Given the description of an element on the screen output the (x, y) to click on. 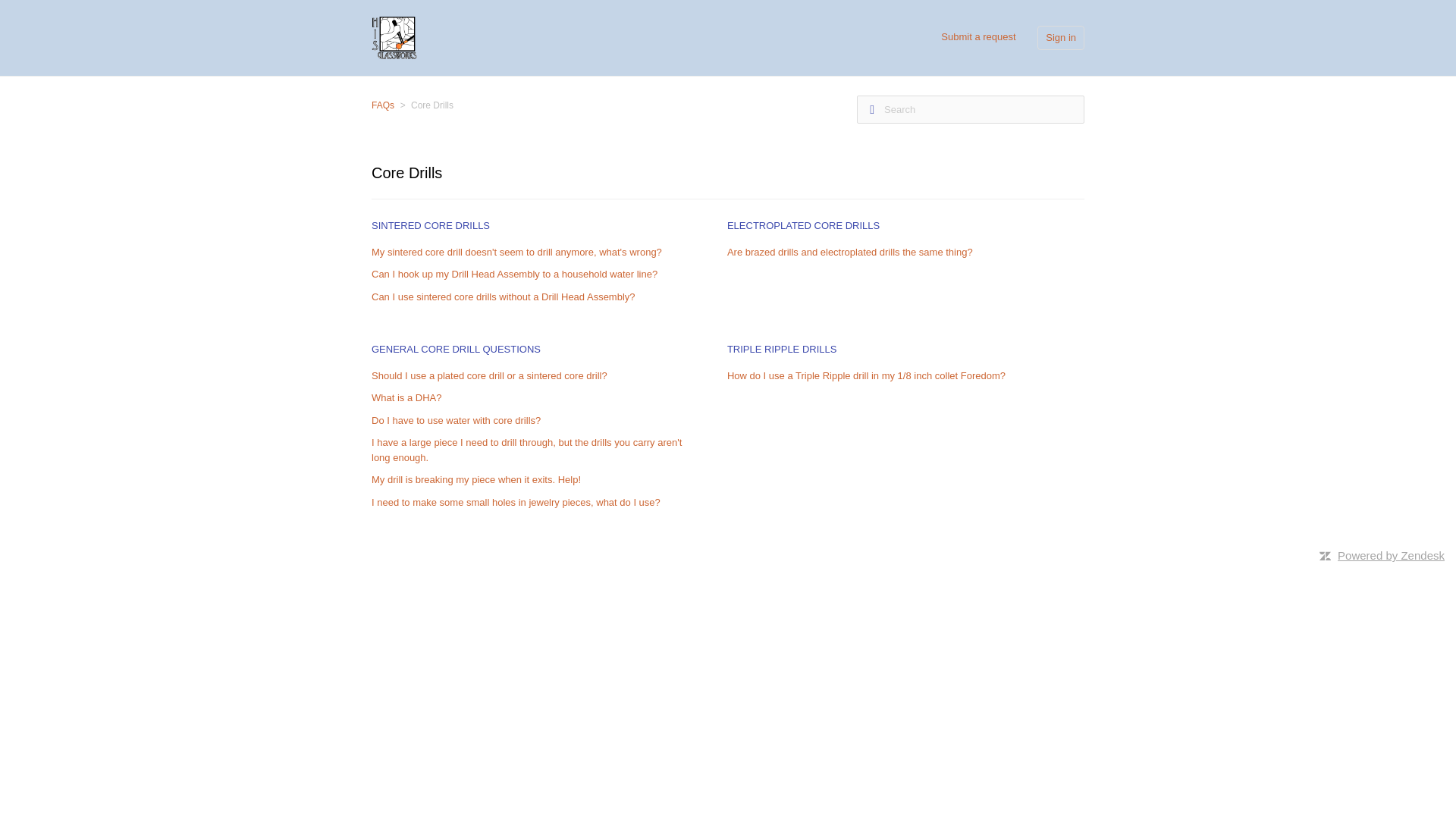
TRIPLE RIPPLE DRILLS (781, 348)
Submit a request (977, 37)
Are brazed drills and electroplated drills the same thing? (849, 251)
GENERAL CORE DRILL QUESTIONS (455, 348)
My drill is breaking my piece when it exits. Help! (475, 479)
Home (393, 36)
Should I use a plated core drill or a sintered core drill? (489, 375)
Powered by Zendesk (1391, 554)
SINTERED CORE DRILLS (430, 225)
